Given the description of an element on the screen output the (x, y) to click on. 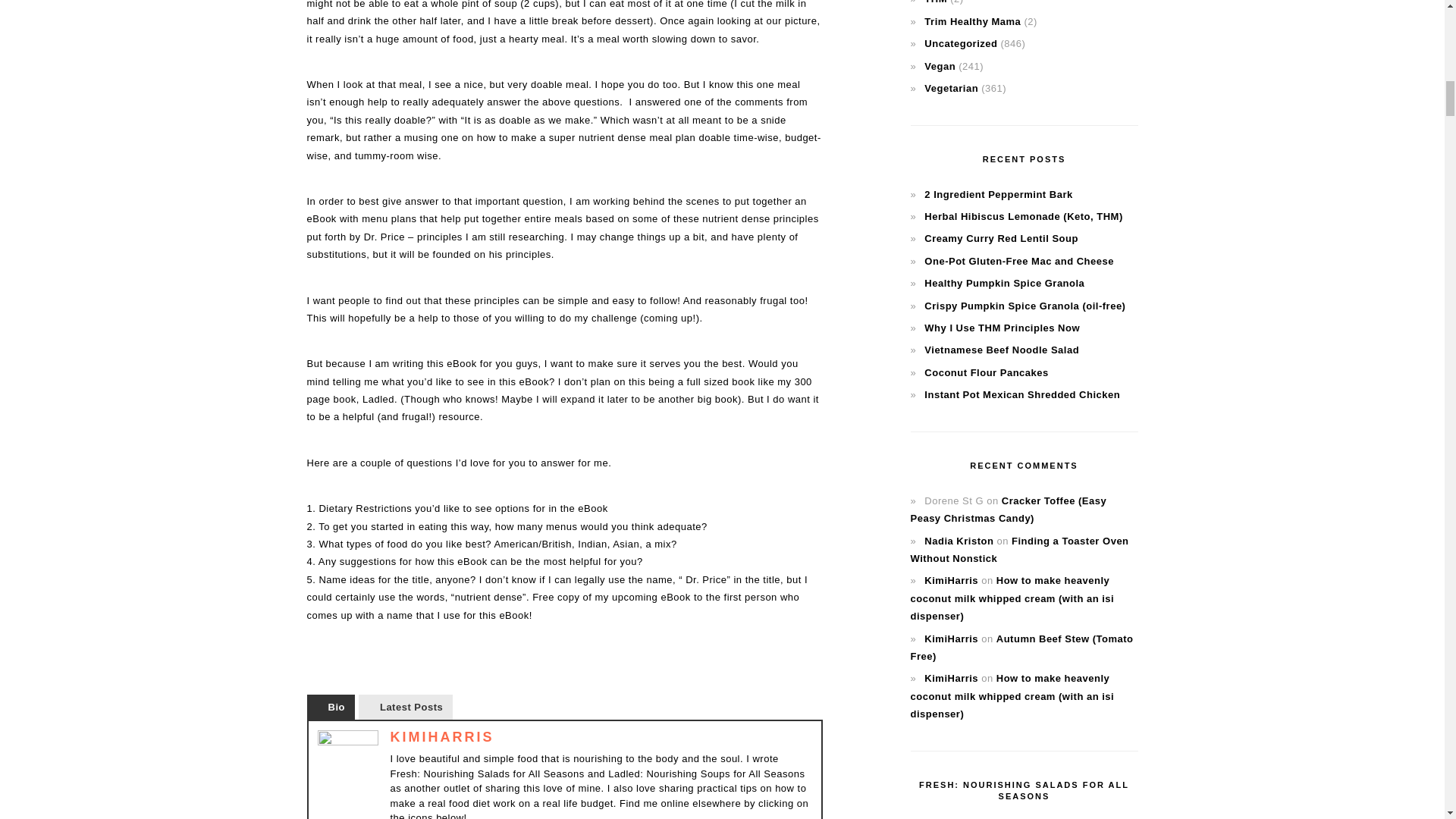
Bio (329, 706)
Latest Posts (405, 706)
Pin It on Pinterest (322, 659)
KIMIHARRIS (441, 736)
